Given the description of an element on the screen output the (x, y) to click on. 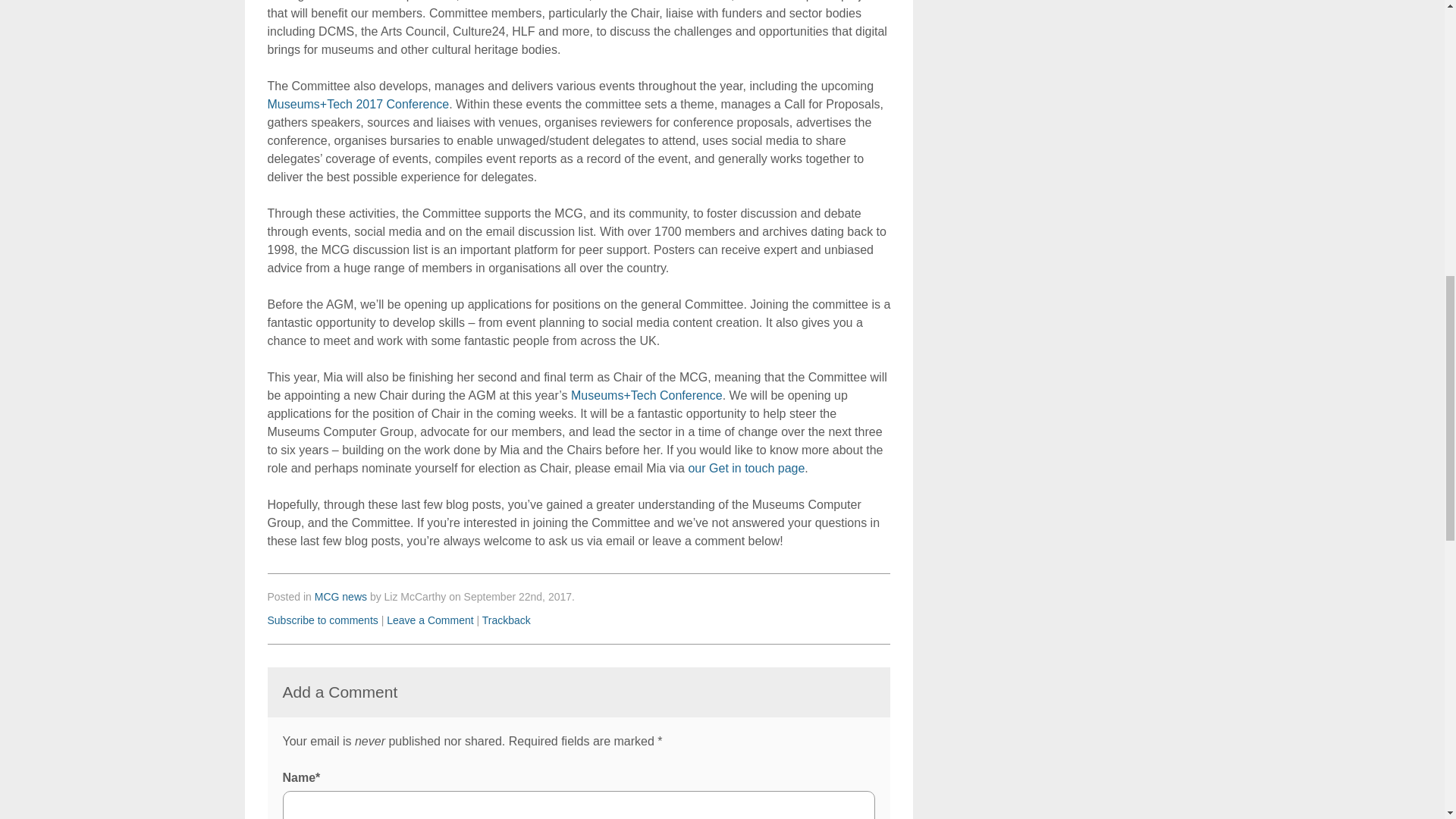
Twitter (507, 0)
Subscribe to comments (321, 620)
MCG news (340, 596)
LinkedIn (566, 0)
our Get in touch page (746, 468)
Leave a Comment (430, 620)
Trackback (506, 620)
